Given the description of an element on the screen output the (x, y) to click on. 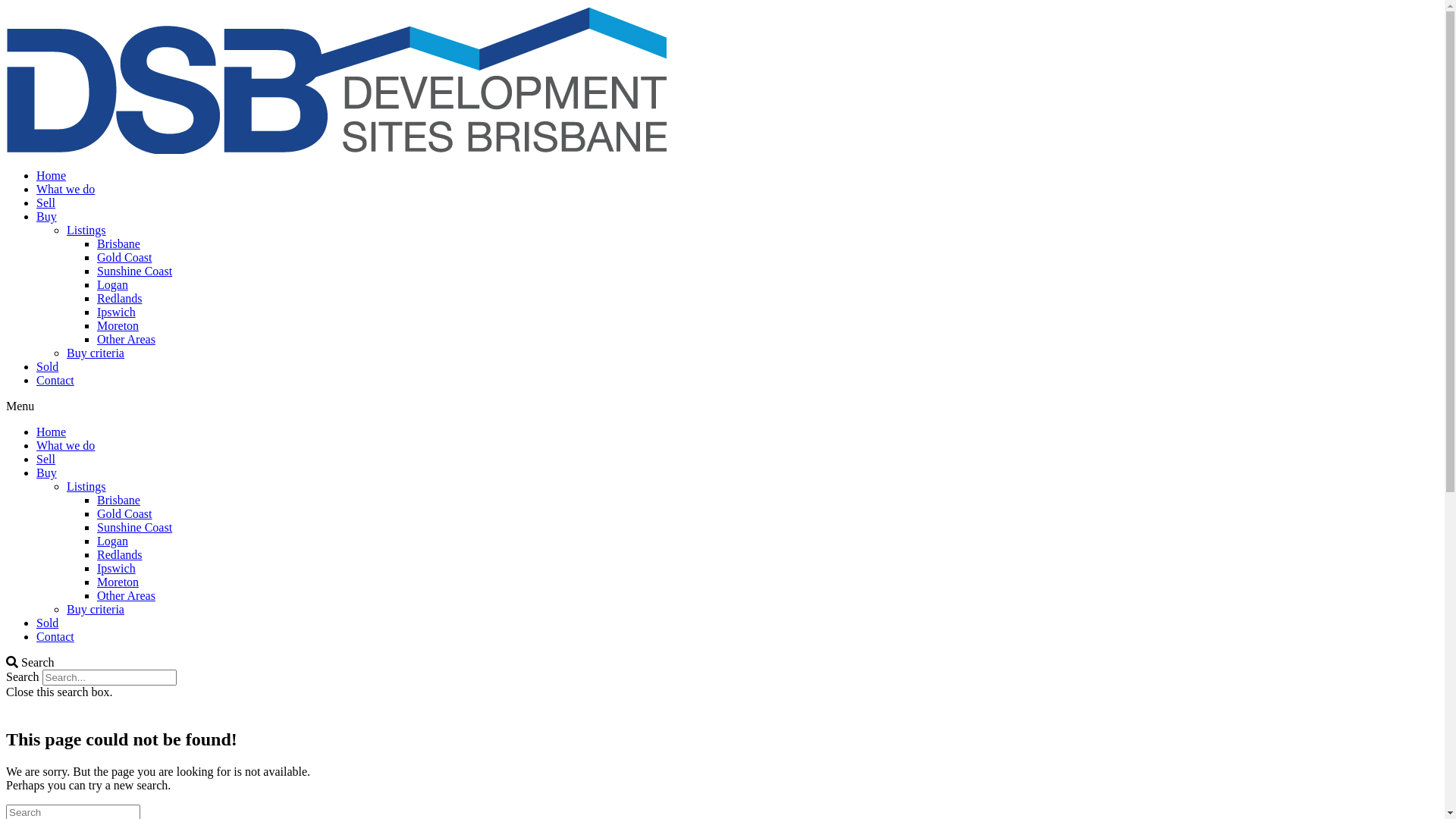
Logan Element type: text (112, 540)
Ipswich Element type: text (116, 567)
Contact Element type: text (55, 379)
Home Element type: text (50, 175)
Ipswich Element type: text (116, 311)
What we do Element type: text (65, 445)
Buy criteria Element type: text (95, 352)
Logan Element type: text (112, 284)
Sell Element type: text (45, 458)
Brisbane Element type: text (118, 243)
Sunshine Coast Element type: text (134, 526)
Redlands Element type: text (119, 554)
Redlands Element type: text (119, 297)
Gold Coast Element type: text (124, 257)
Buy criteria Element type: text (95, 608)
Skip to content Element type: text (5, 5)
Gold Coast Element type: text (124, 513)
Buy Element type: text (46, 472)
Buy Element type: text (46, 216)
Sunshine Coast Element type: text (134, 270)
Sold Element type: text (47, 622)
Home Element type: text (50, 431)
Brisbane Element type: text (118, 499)
Contact Element type: text (55, 636)
Other Areas Element type: text (126, 338)
Moreton Element type: text (117, 325)
Sold Element type: text (47, 366)
Listings Element type: text (86, 229)
What we do Element type: text (65, 188)
Moreton Element type: text (117, 581)
Listings Element type: text (86, 486)
Sell Element type: text (45, 202)
Other Areas Element type: text (126, 595)
